Given the description of an element on the screen output the (x, y) to click on. 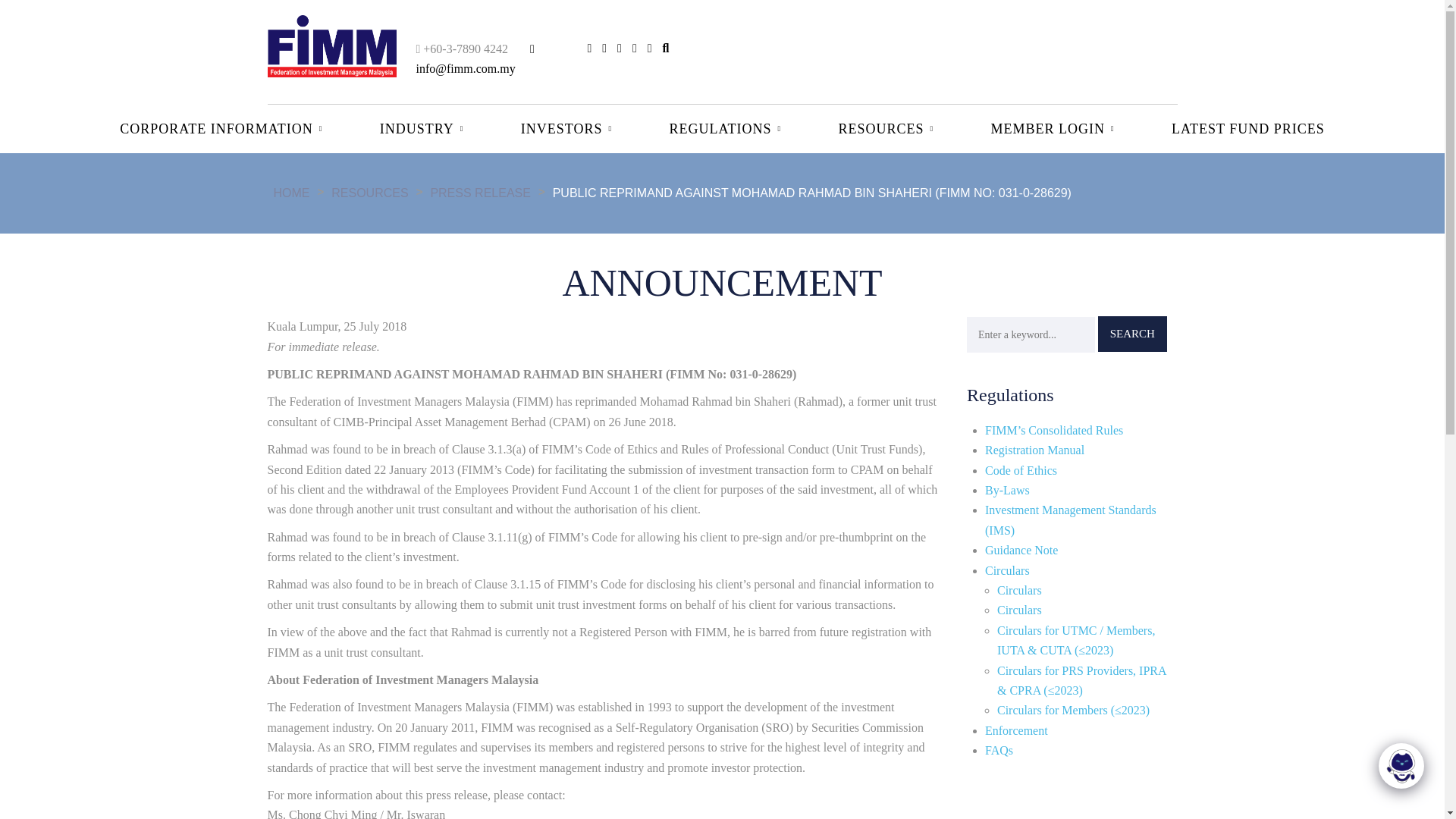
Chat with us! (1400, 768)
CORPORATE INFORMATION (217, 128)
FIMM (331, 43)
Search (1132, 334)
Search (1132, 334)
Go to Resources. (380, 192)
INDUSTRY (418, 128)
Go to Press Release. (490, 192)
